Given the description of an element on the screen output the (x, y) to click on. 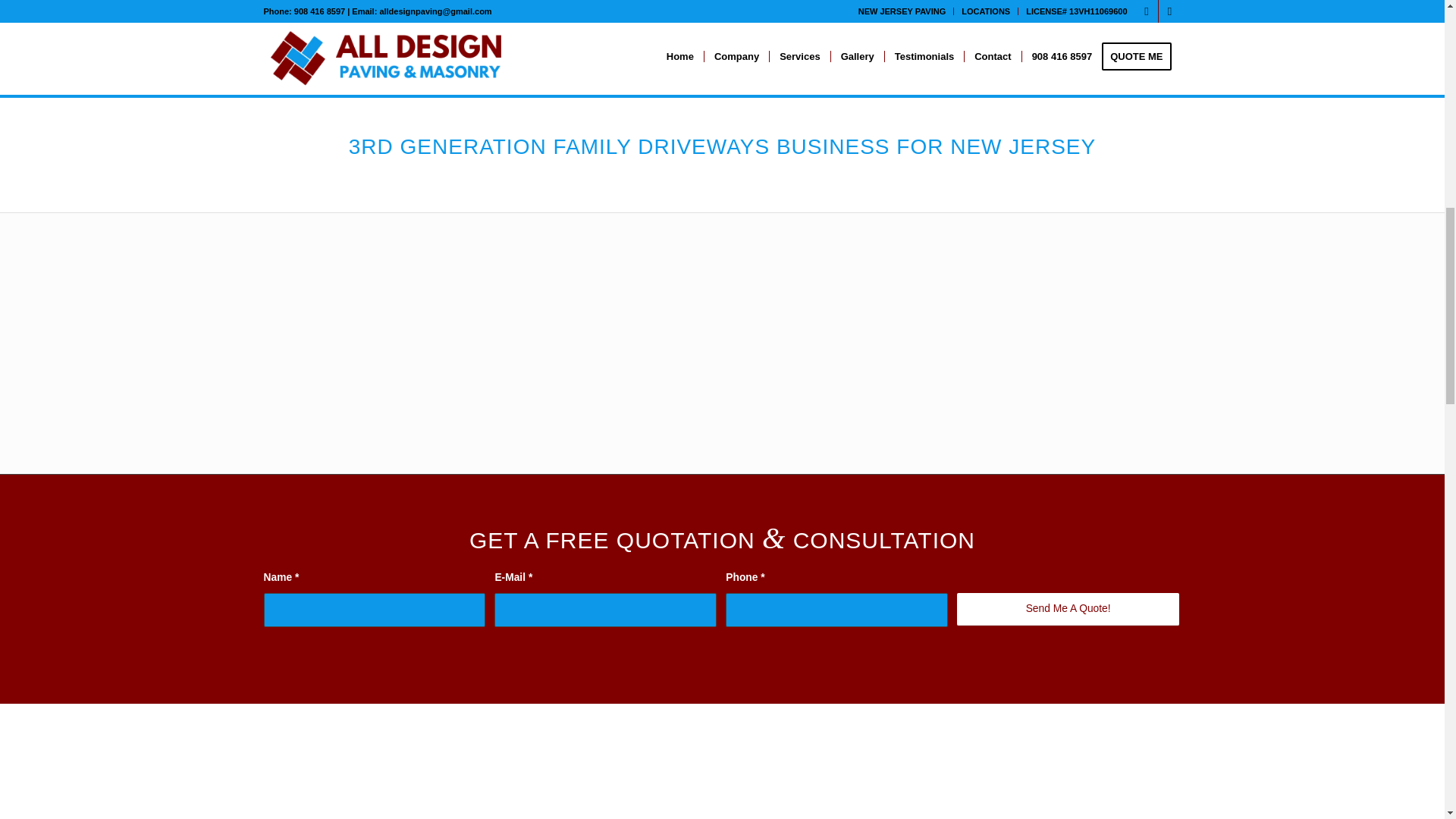
Send Me A Quote! (1067, 608)
Send Me A Quote! (1067, 608)
